Given the description of an element on the screen output the (x, y) to click on. 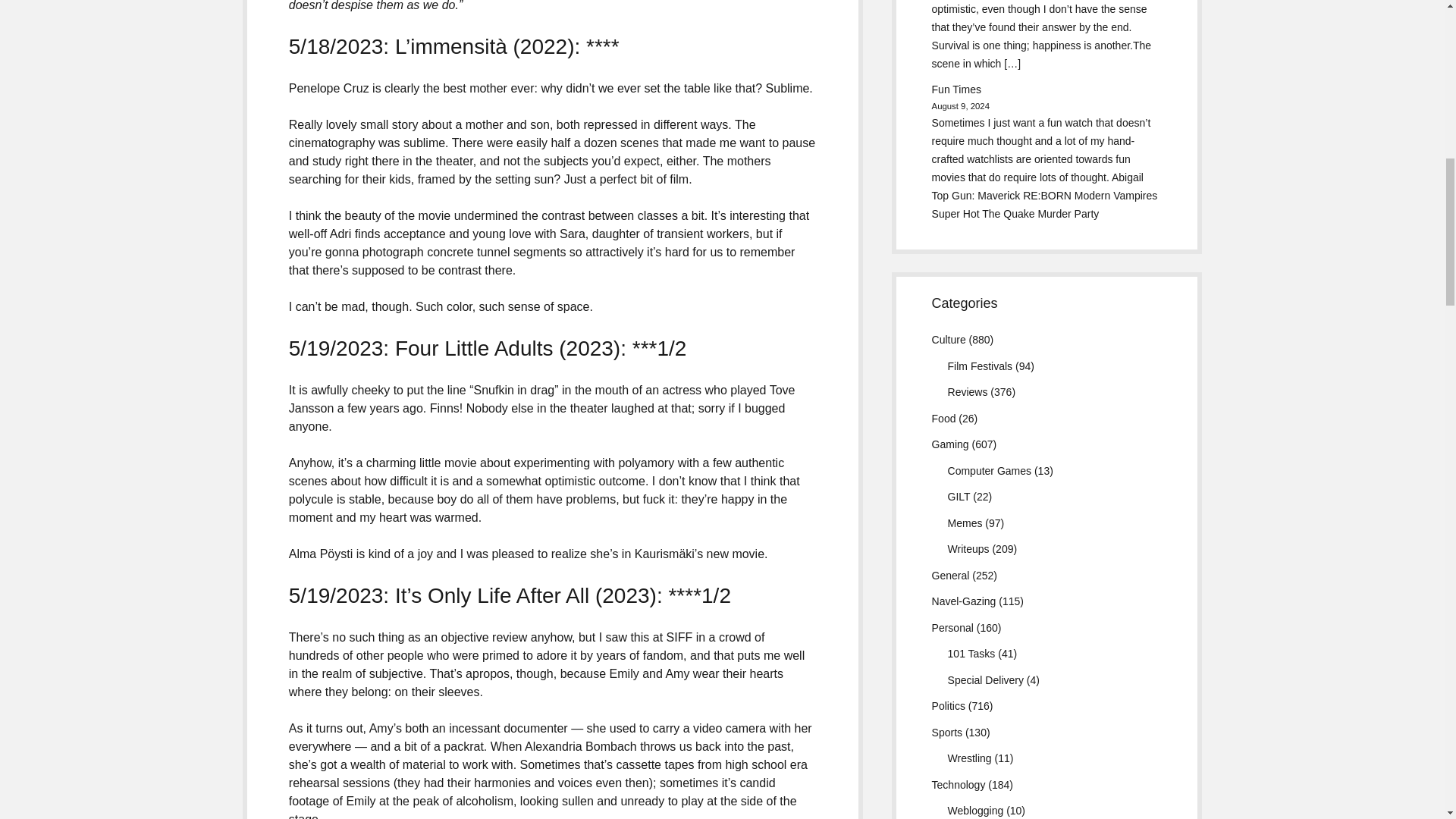
Navel-Gazing (963, 601)
Culture (948, 339)
Politics (948, 705)
Film Festivals (980, 366)
Wrestling (969, 758)
Memes (964, 522)
Sports (946, 732)
Gaming (950, 444)
GILT (959, 496)
Weblogging (975, 810)
